Given the description of an element on the screen output the (x, y) to click on. 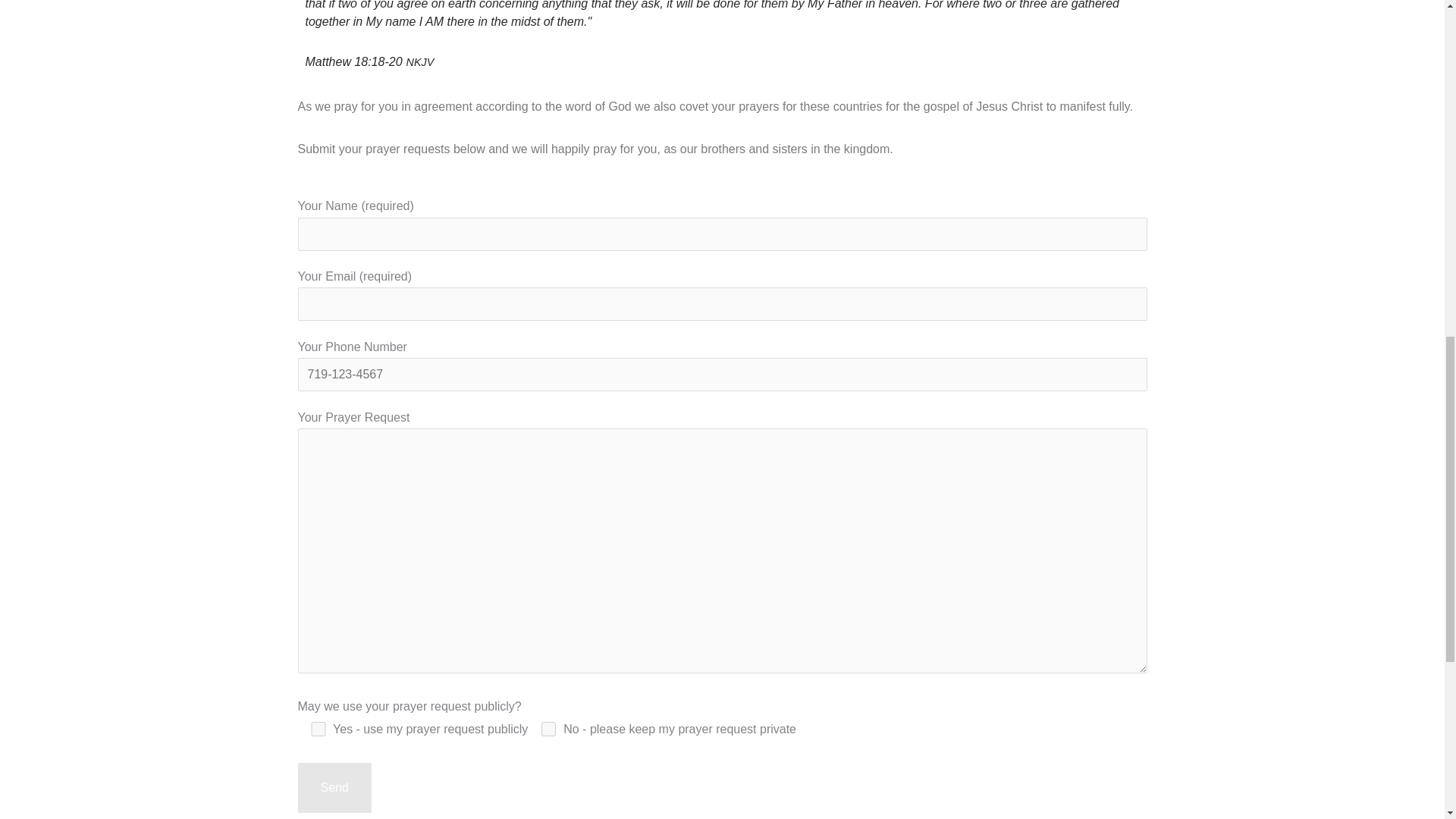
Send (334, 787)
Send (334, 787)
No - please keep my prayer request private (548, 728)
Yes - use my prayer request publicly (317, 728)
